Given the description of an element on the screen output the (x, y) to click on. 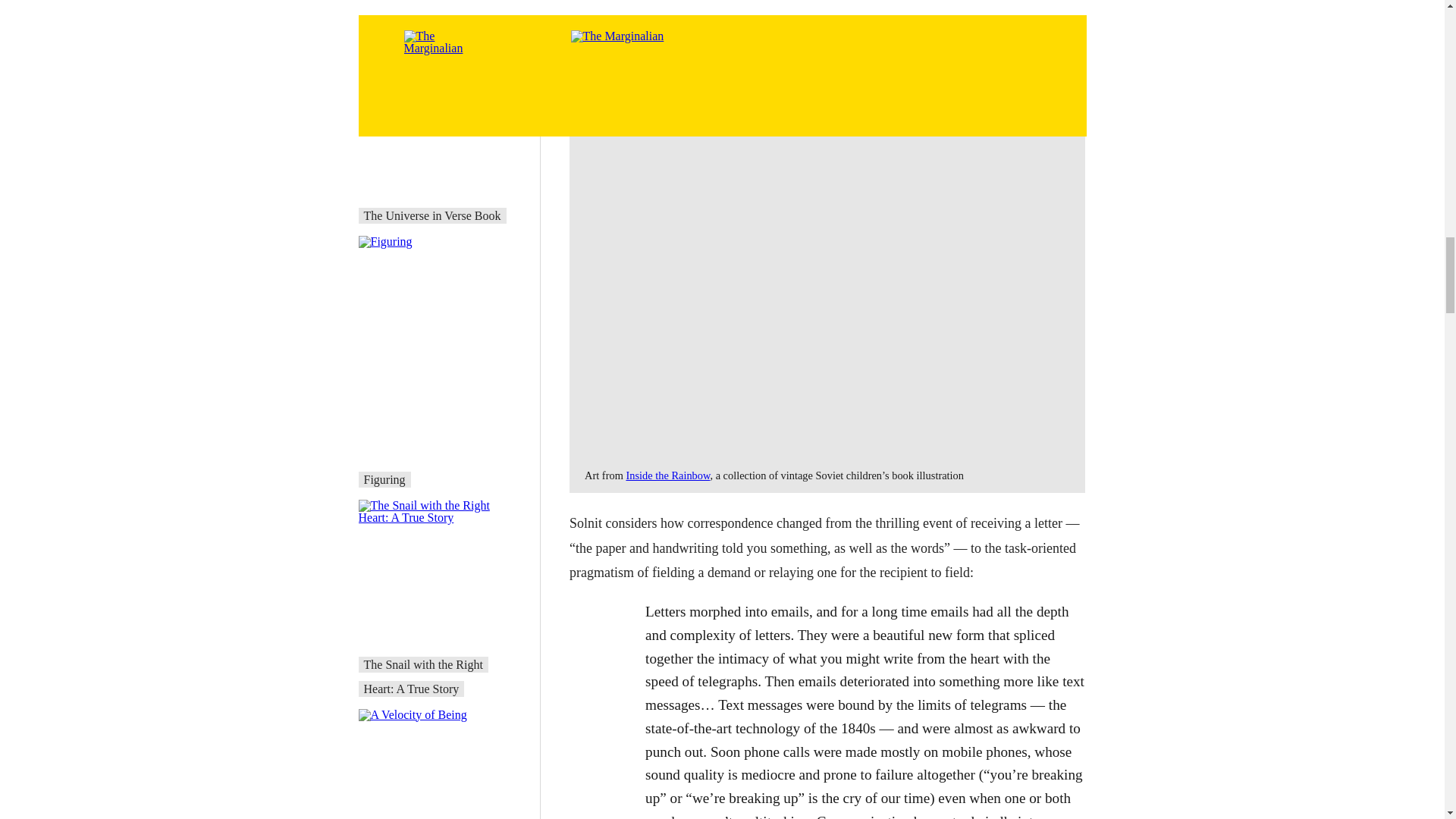
Figuring (385, 479)
The Snail with the Right Heart: A True Story (423, 676)
The Universe in Verse Book (432, 215)
